Given the description of an element on the screen output the (x, y) to click on. 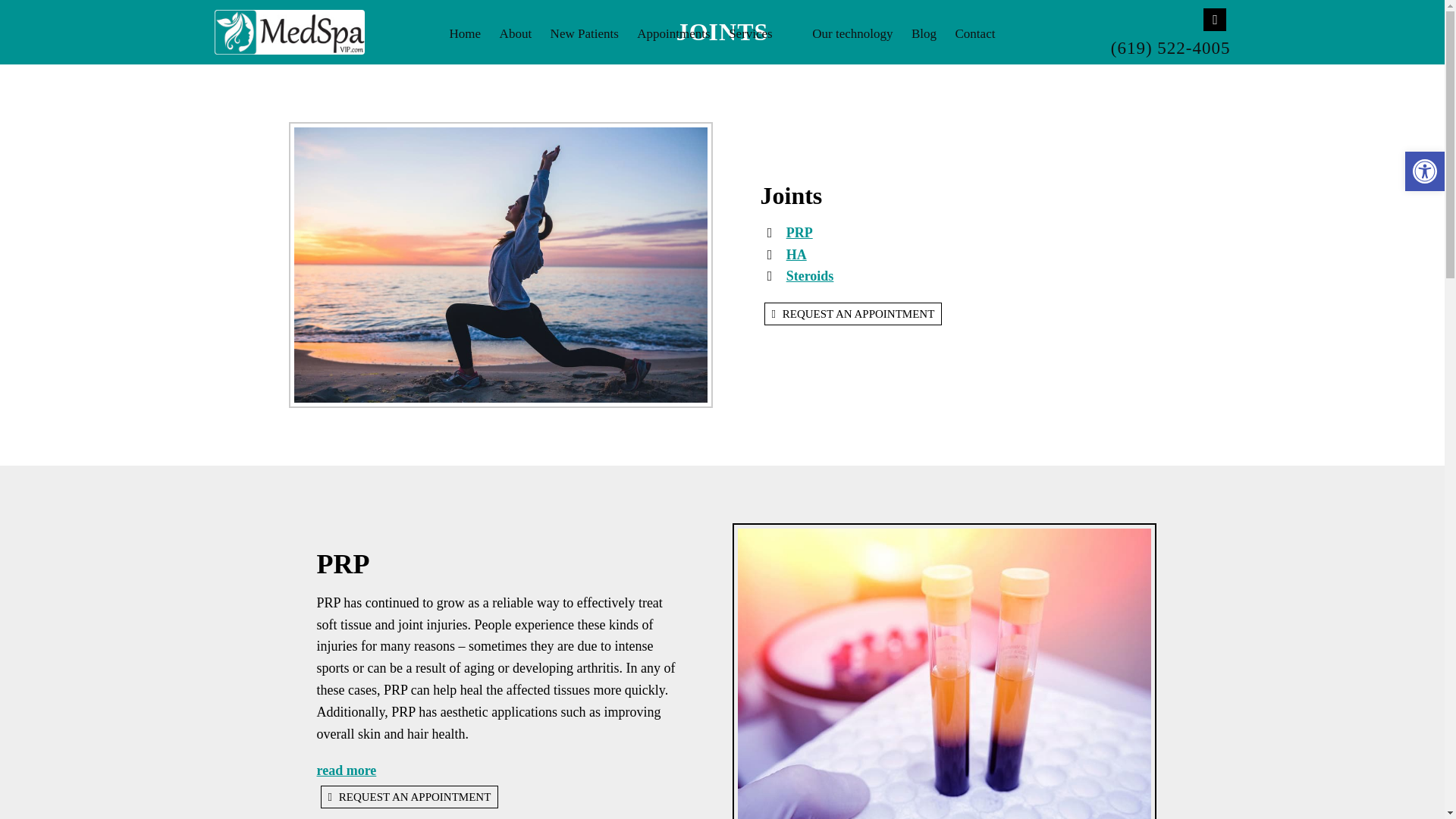
PRP (799, 232)
Contact (975, 33)
read more (347, 770)
HA (796, 254)
Steroids (810, 275)
Services (761, 33)
About (516, 33)
Home (465, 33)
Accessibility Tools (1424, 170)
Our technology (852, 33)
New Patients (584, 33)
REQUEST AN APPOINTMENT (408, 796)
REQUEST AN APPOINTMENT (853, 313)
Blog (923, 33)
Appointments (672, 33)
